Given the description of an element on the screen output the (x, y) to click on. 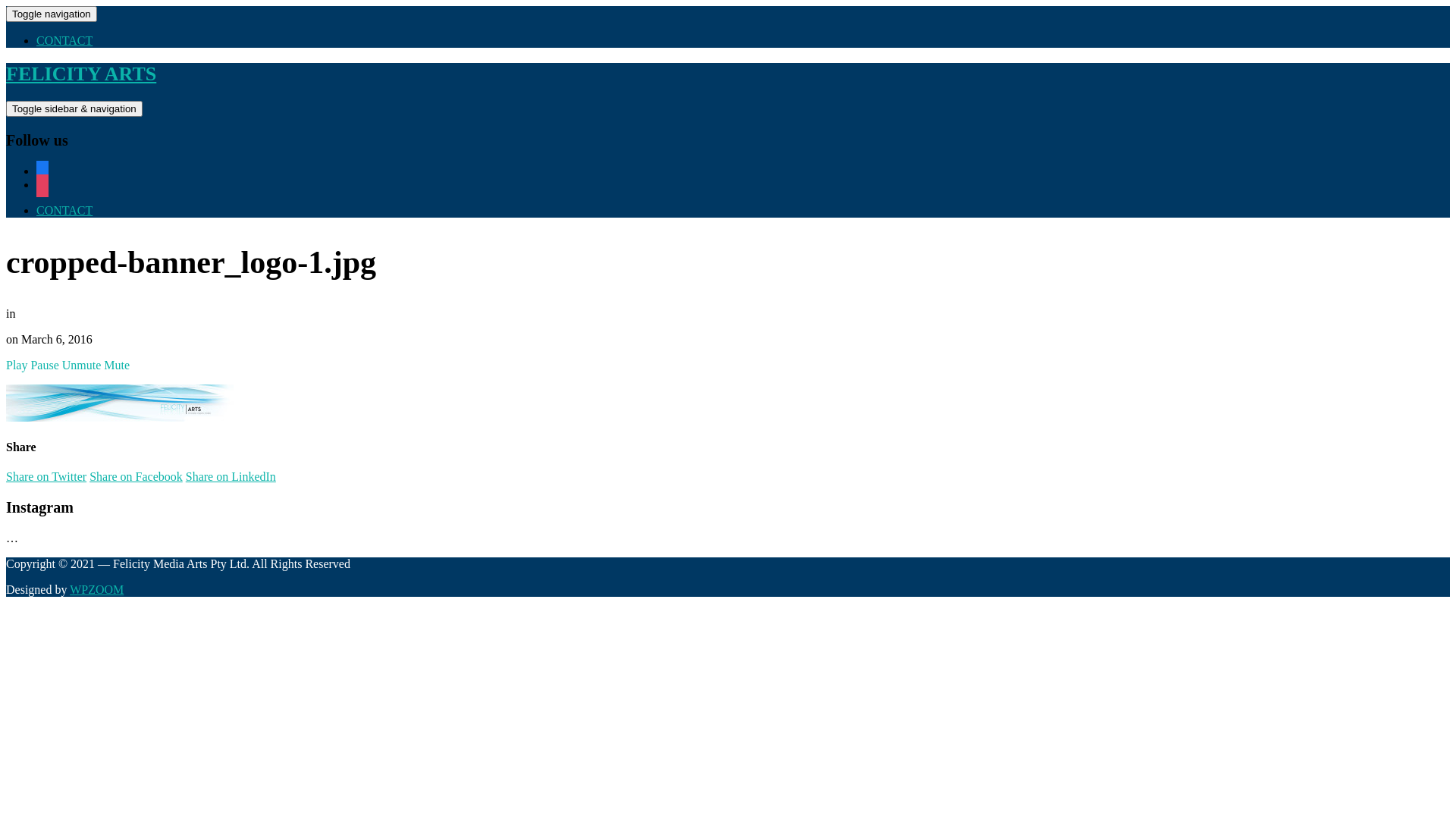
Share on LinkedIn Element type: text (230, 476)
Toggle sidebar & navigation Element type: text (74, 108)
Share on Facebook Element type: text (135, 476)
Share on Twitter Element type: text (46, 476)
WPZOOM Element type: text (96, 589)
Toggle navigation Element type: text (51, 13)
Pause Element type: text (44, 364)
CONTACT Element type: text (64, 209)
FELICITY ARTS Element type: text (81, 73)
CONTACT Element type: text (64, 40)
instagram Element type: text (42, 184)
facebook Element type: text (42, 170)
Mute Element type: text (116, 364)
Play Element type: text (16, 364)
Unmute Element type: text (81, 364)
